Given the description of an element on the screen output the (x, y) to click on. 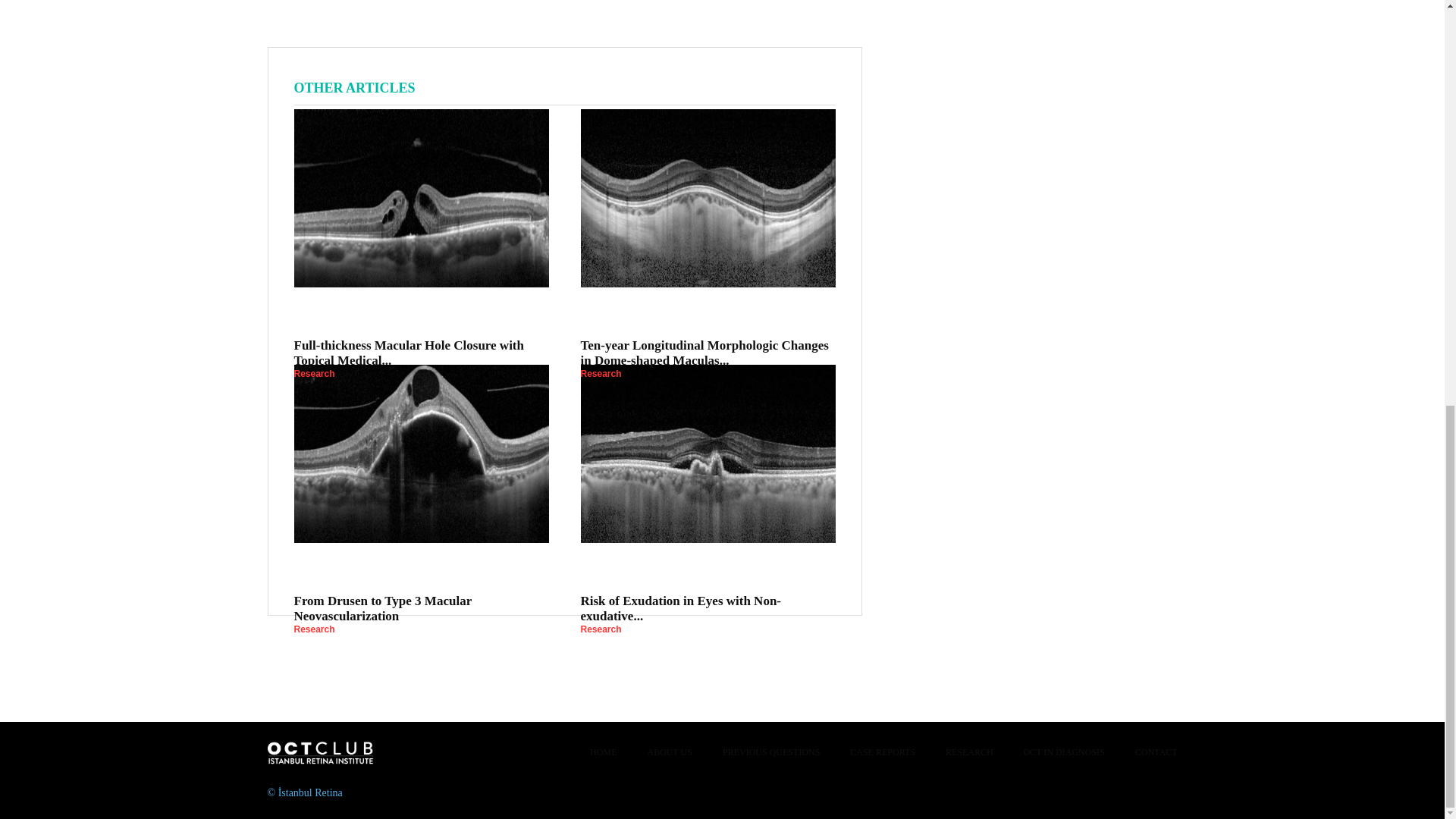
From Drusen to Type 3 Macular Neovascularization (421, 453)
Full-thickness Macular Hole Closure with Topical Medical... (409, 352)
Research (314, 373)
From Drusen to Type 3 Macular Neovascularization (382, 608)
